Given the description of an element on the screen output the (x, y) to click on. 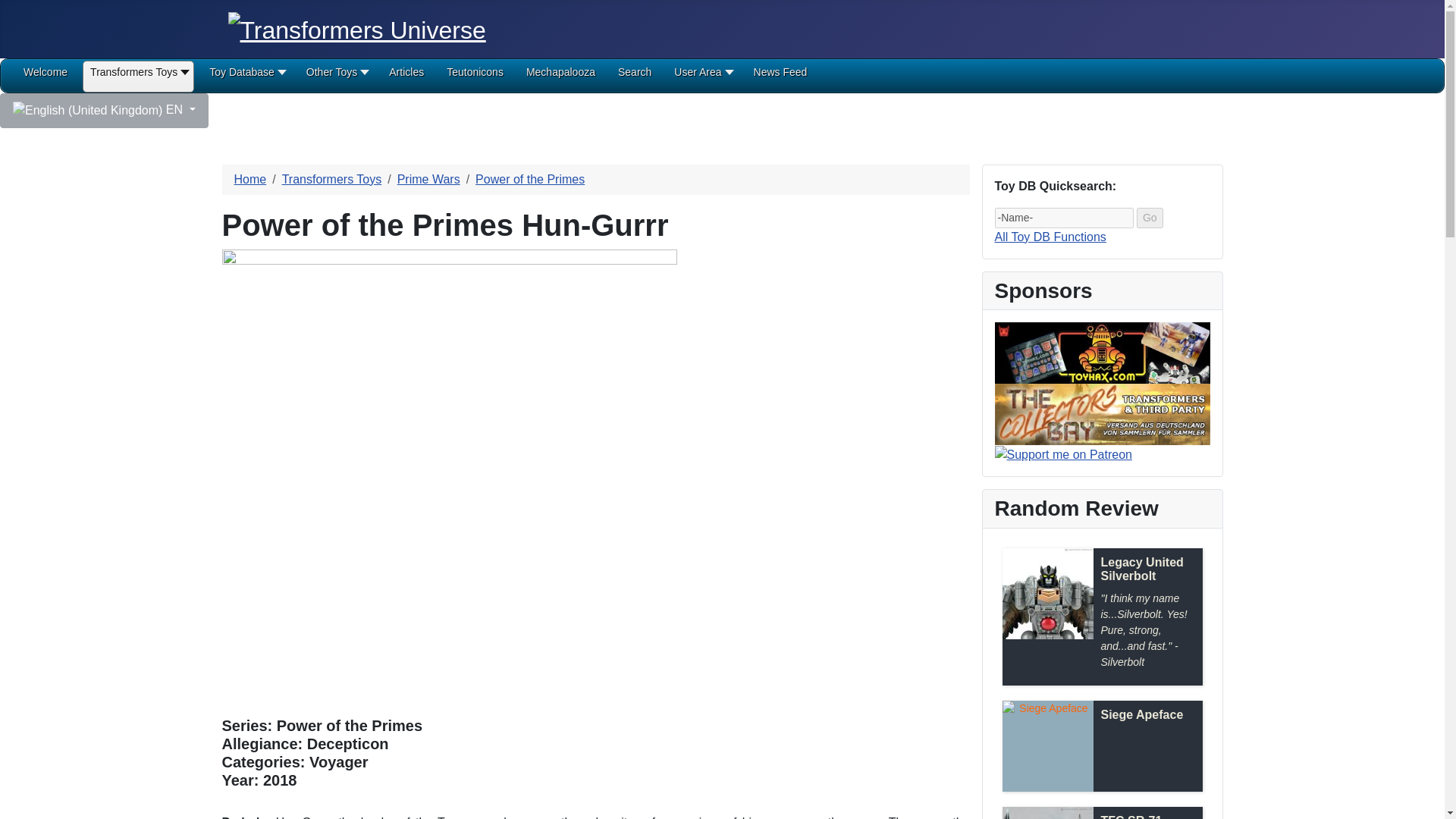
Welcome (44, 77)
Go (1150, 218)
-Name- (1064, 218)
Transformers Toys (138, 77)
